Given the description of an element on the screen output the (x, y) to click on. 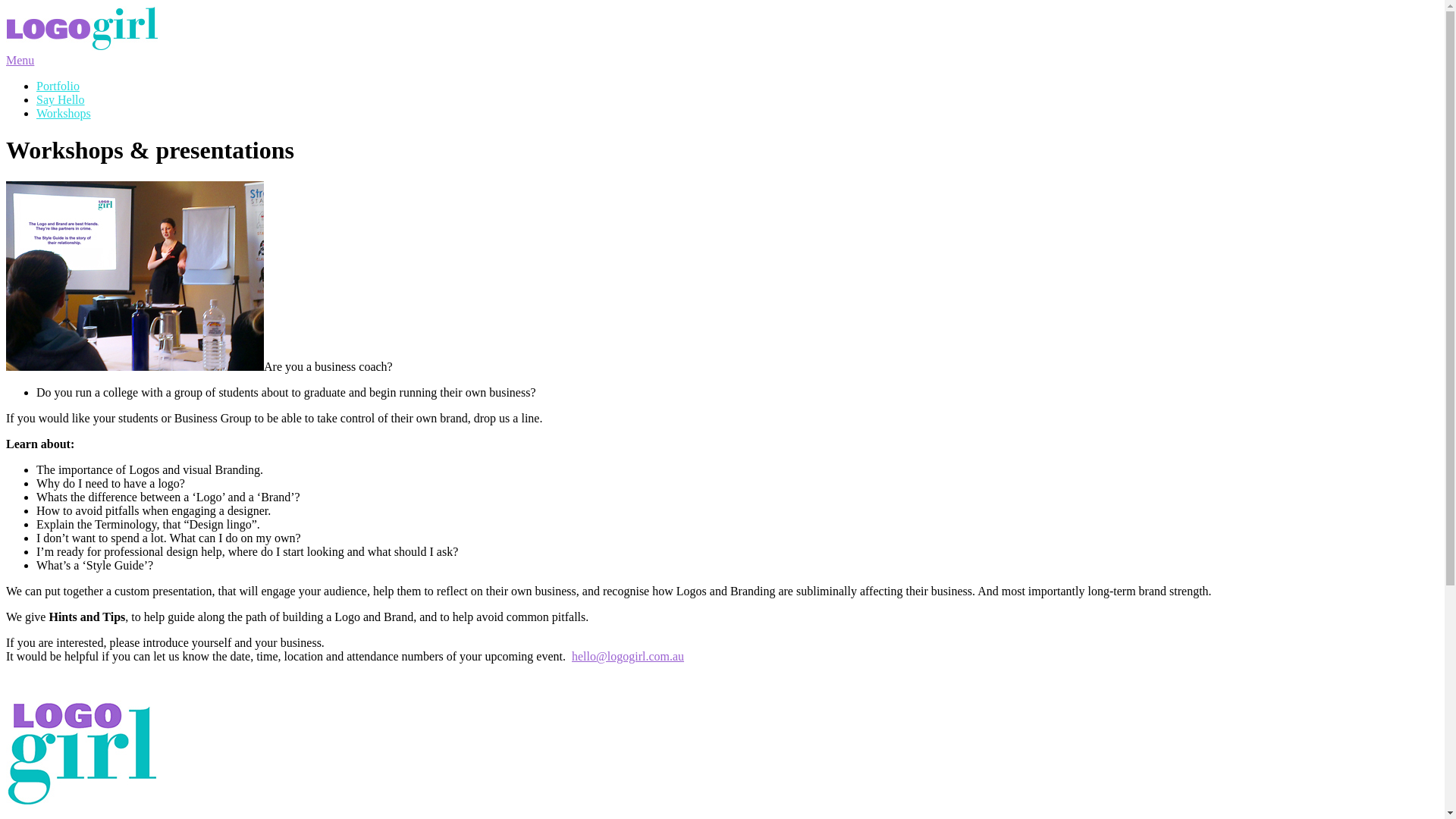
Say Hello Element type: text (60, 99)
Menu Element type: text (20, 59)
Workshops Element type: text (63, 112)
Skip to content Element type: text (5, 5)
hello@logogirl.com.au Element type: text (627, 655)
Portfolio Element type: text (57, 85)
